Given the description of an element on the screen output the (x, y) to click on. 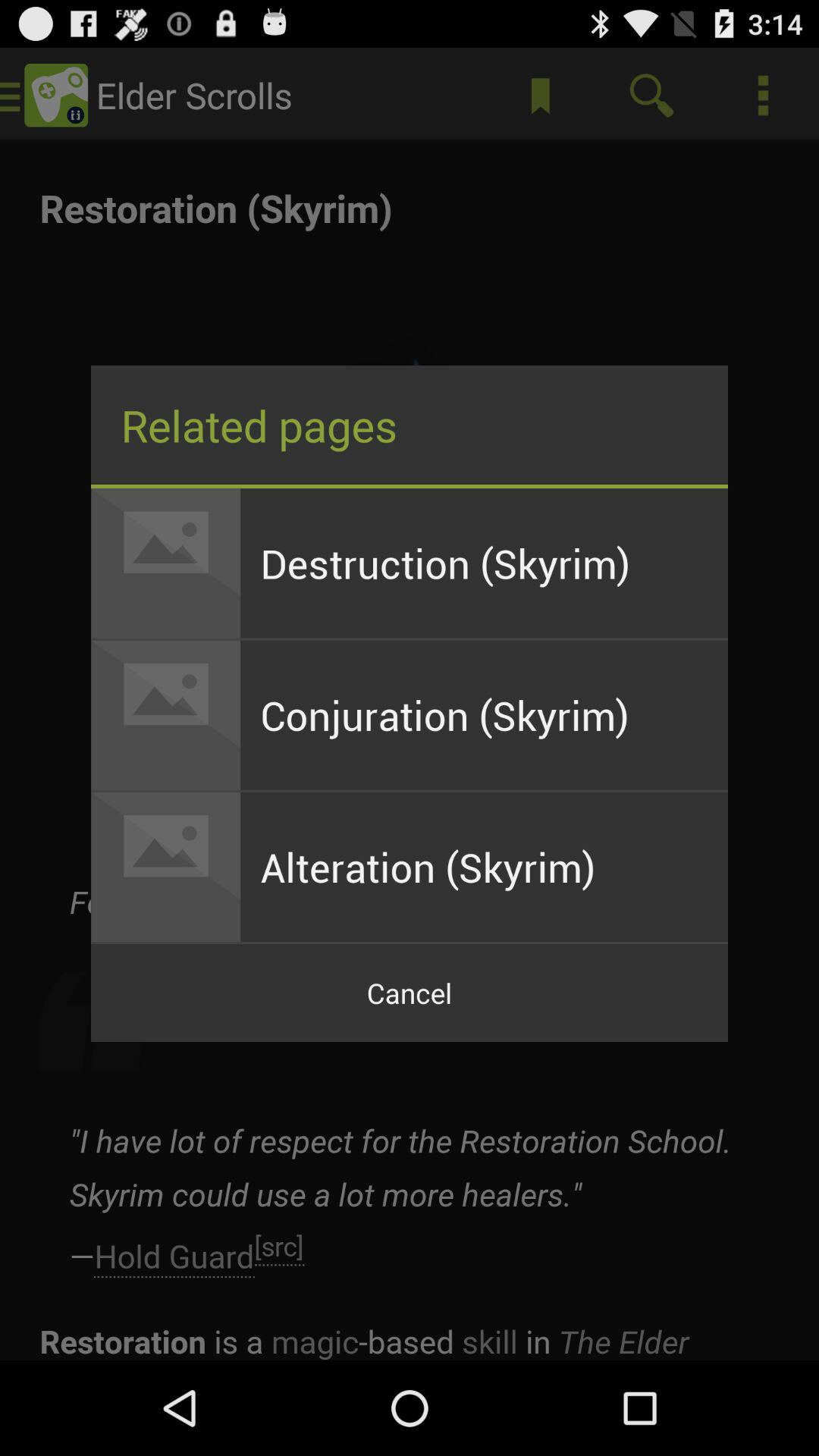
press the conjuration (skyrim) app (484, 715)
